Given the description of an element on the screen output the (x, y) to click on. 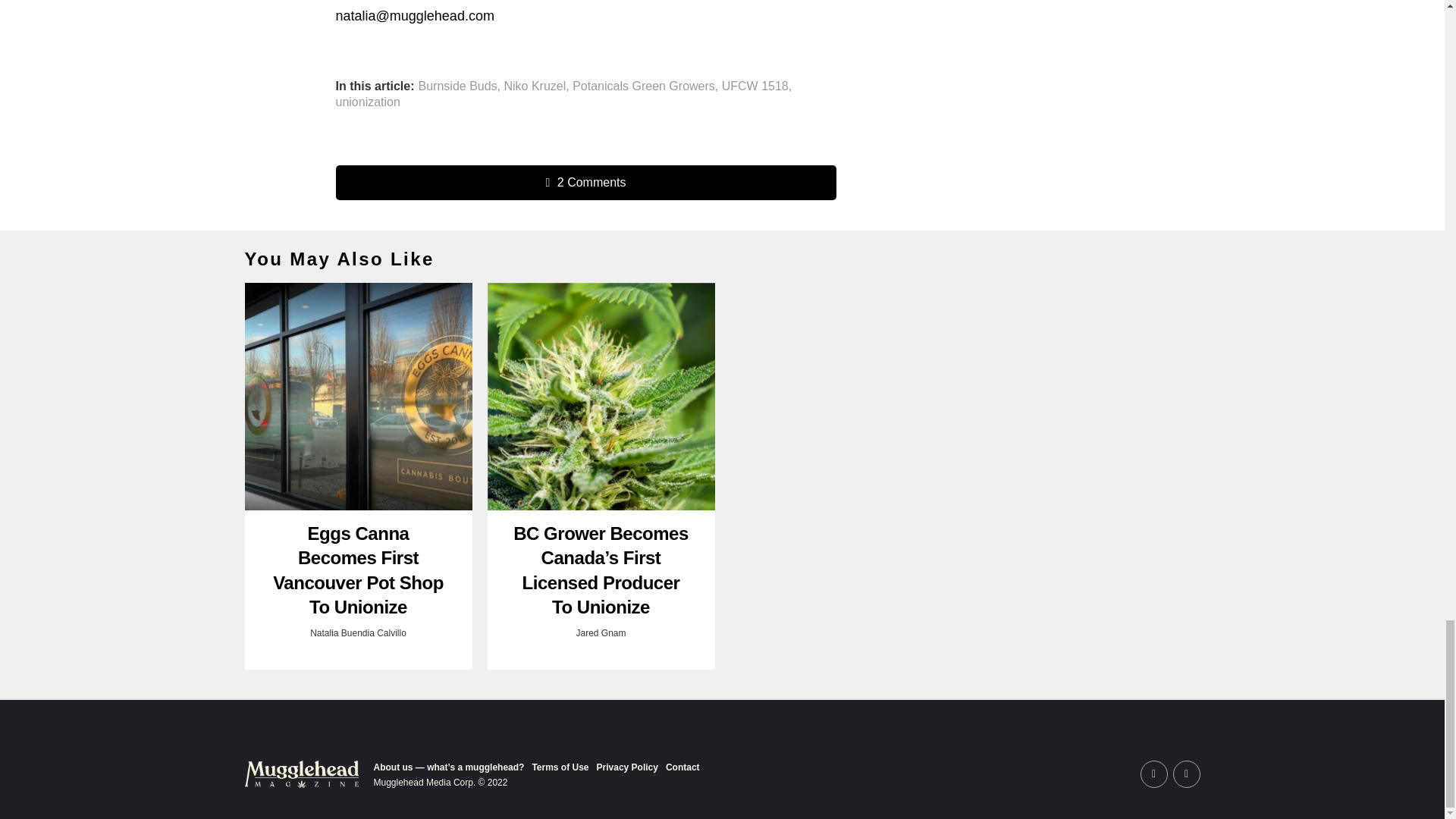
Posts by Jared Gnam (600, 633)
Posts by Natalia Buendia Calvillo (358, 633)
